Given the description of an element on the screen output the (x, y) to click on. 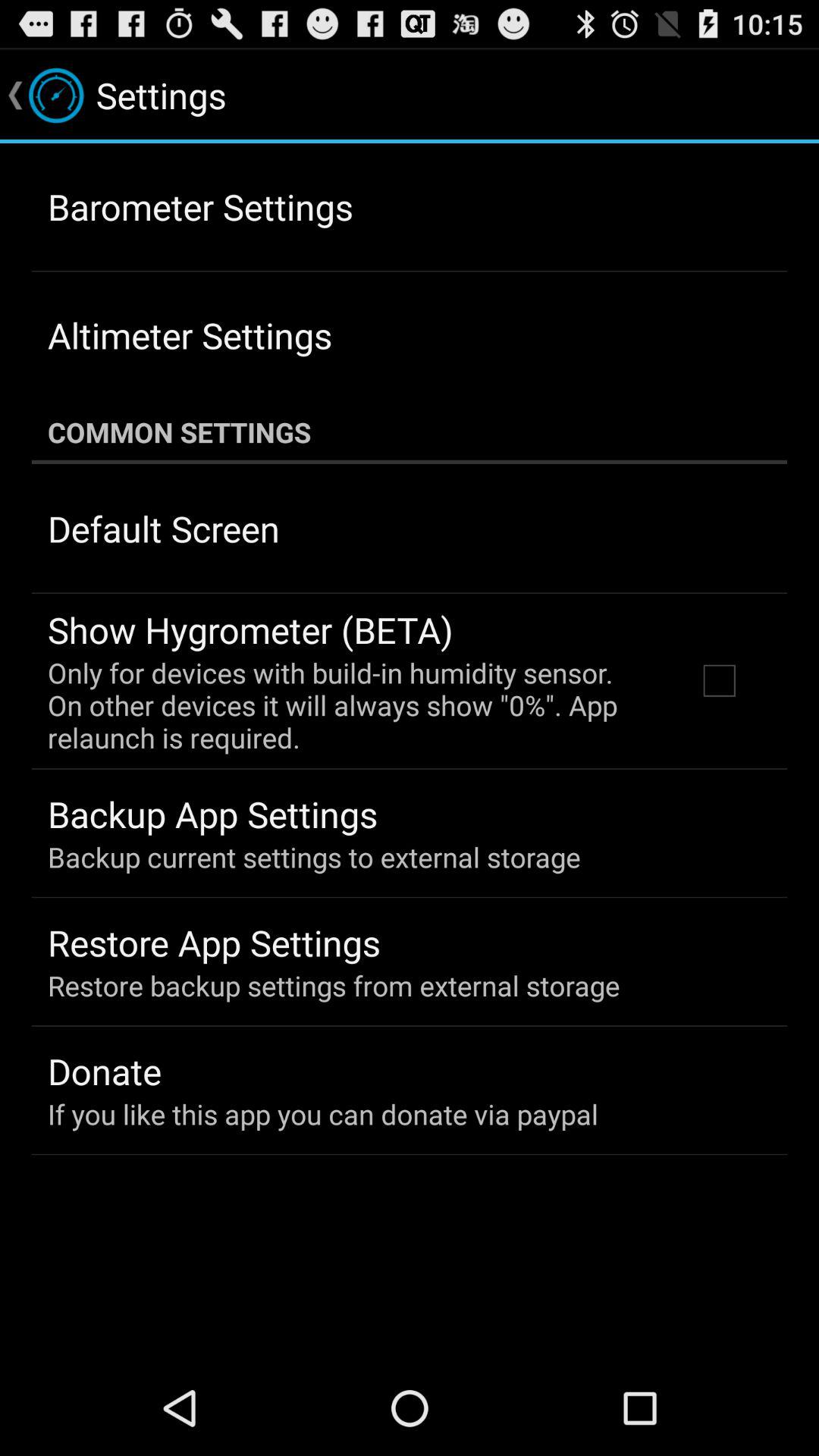
turn on the item below the common settings (719, 680)
